Given the description of an element on the screen output the (x, y) to click on. 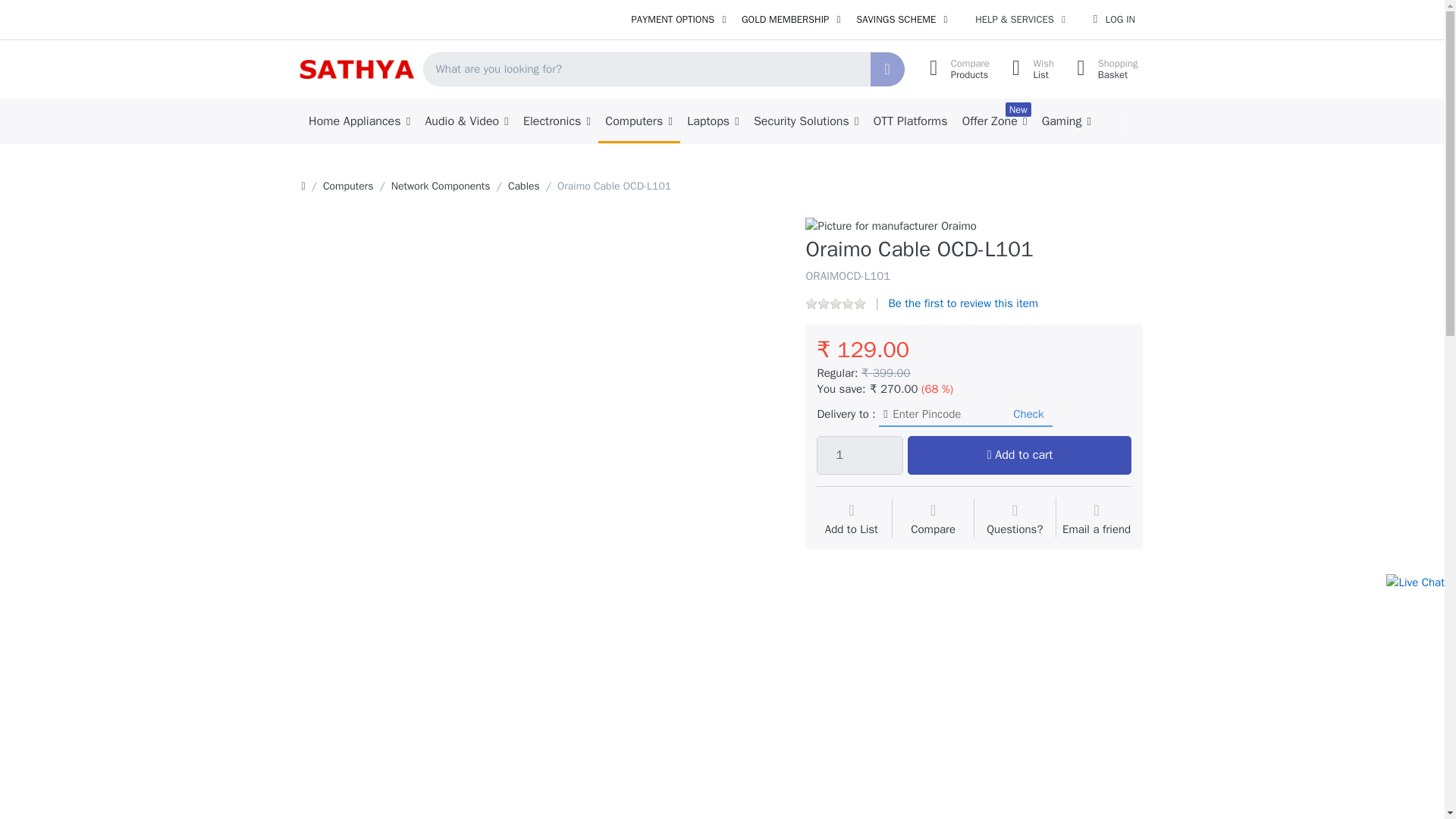
Question about product? (1014, 519)
SATHYA (356, 68)
Security Solutions (1102, 69)
Computers (805, 121)
Computers (348, 186)
Network Components (638, 121)
Cables (440, 186)
LOG IN (524, 186)
SAVINGS SCHEME (1113, 19)
Add to wishlist (901, 19)
Electronics (850, 519)
PAYMENT OPTIONS (555, 121)
Laptops (678, 19)
